Given the description of an element on the screen output the (x, y) to click on. 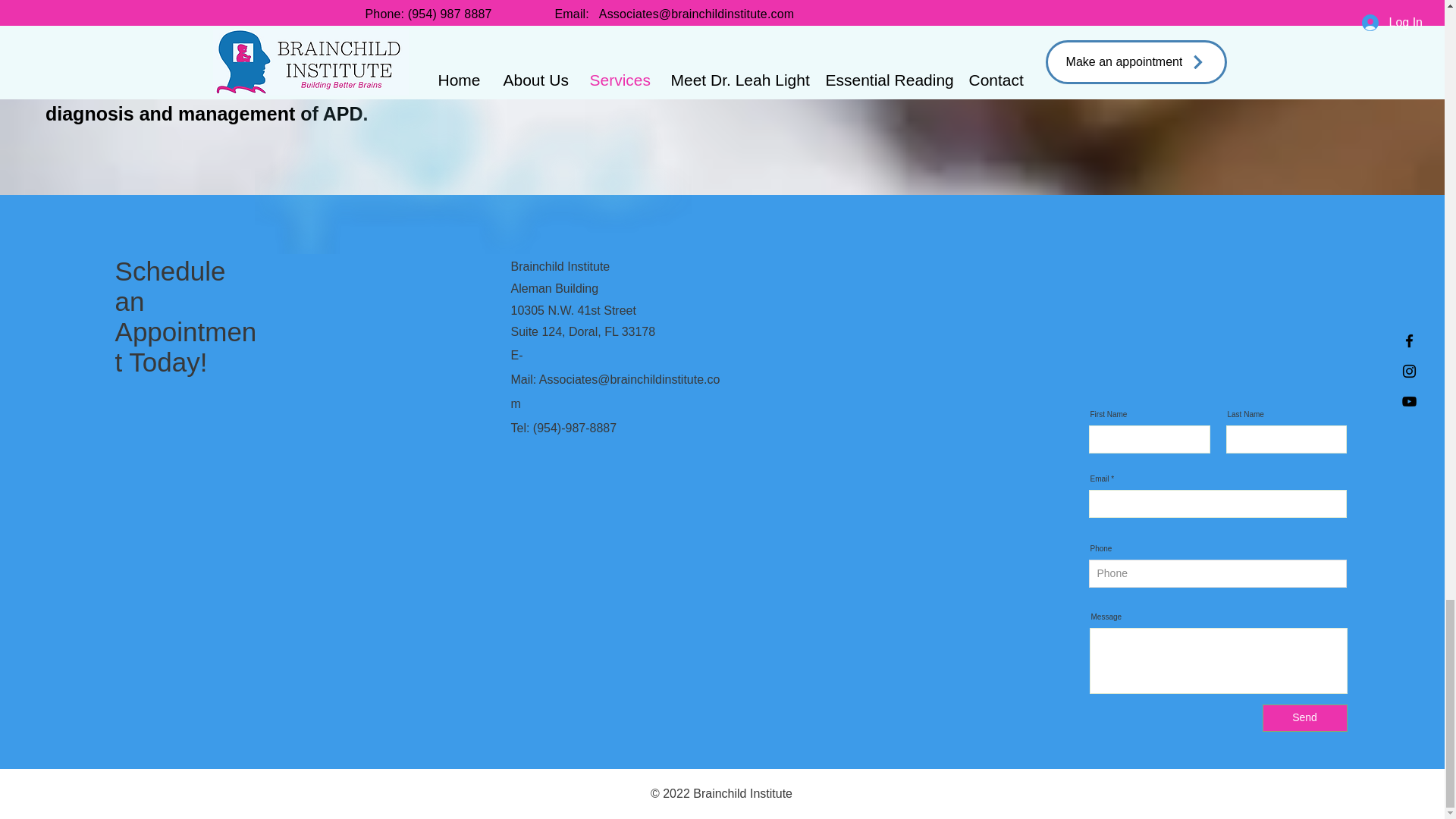
Send (1304, 718)
